Given the description of an element on the screen output the (x, y) to click on. 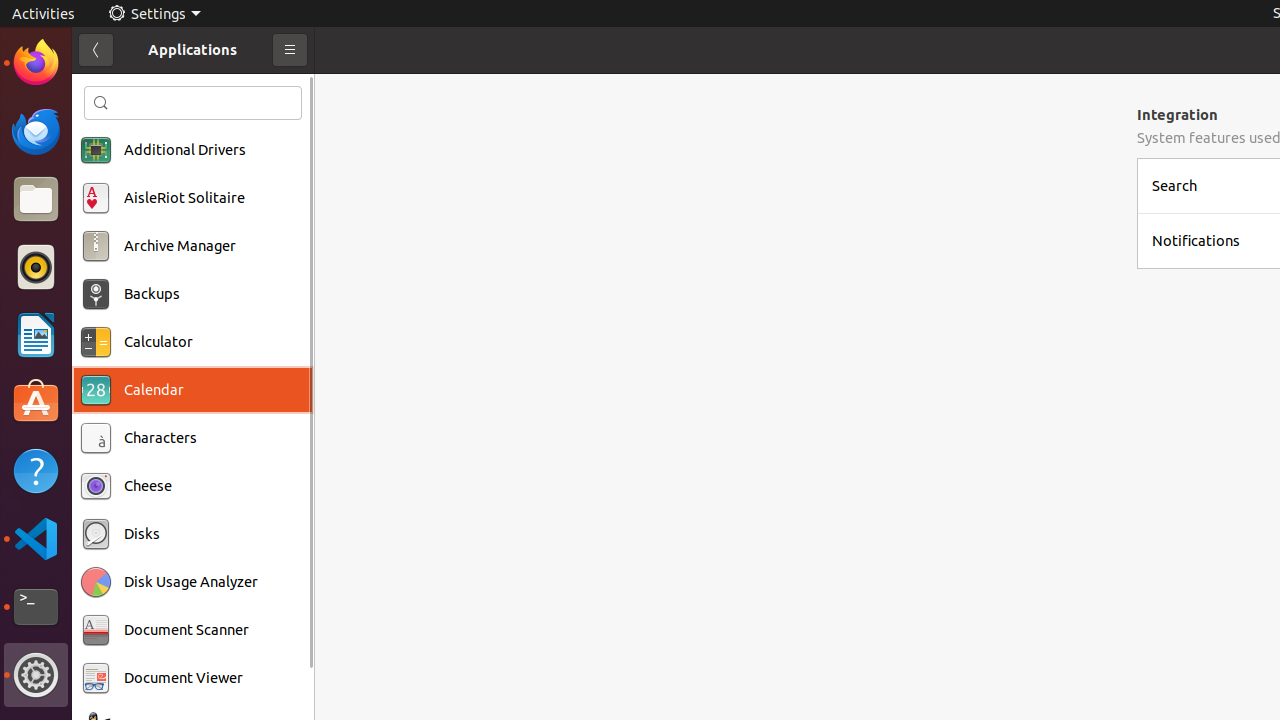
AisleRiot Solitaire Element type: label (184, 198)
IsaHelpMain.desktop Element type: label (133, 300)
Settings Element type: push-button (36, 675)
Document Viewer Element type: label (183, 678)
Archive Manager Element type: label (180, 245)
